Given the description of an element on the screen output the (x, y) to click on. 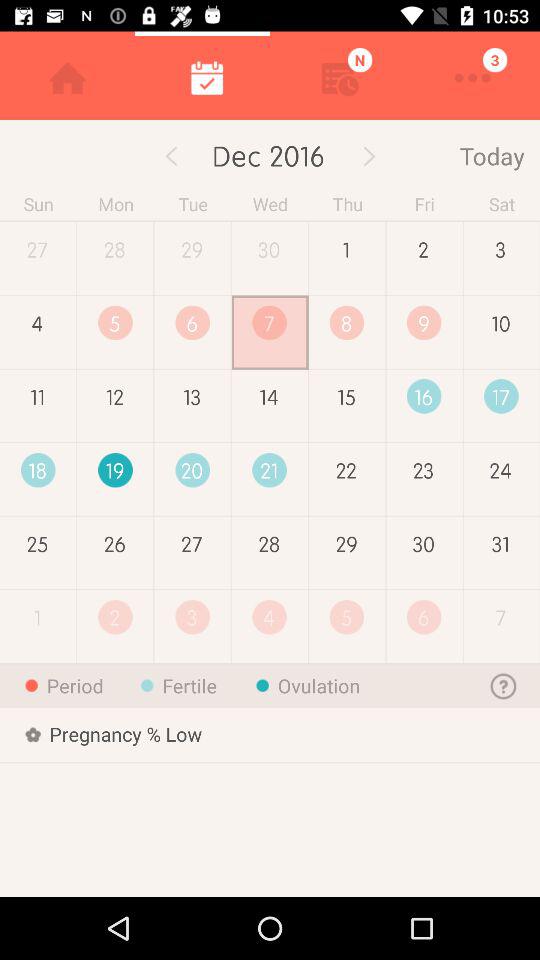
help menu (503, 685)
